Given the description of an element on the screen output the (x, y) to click on. 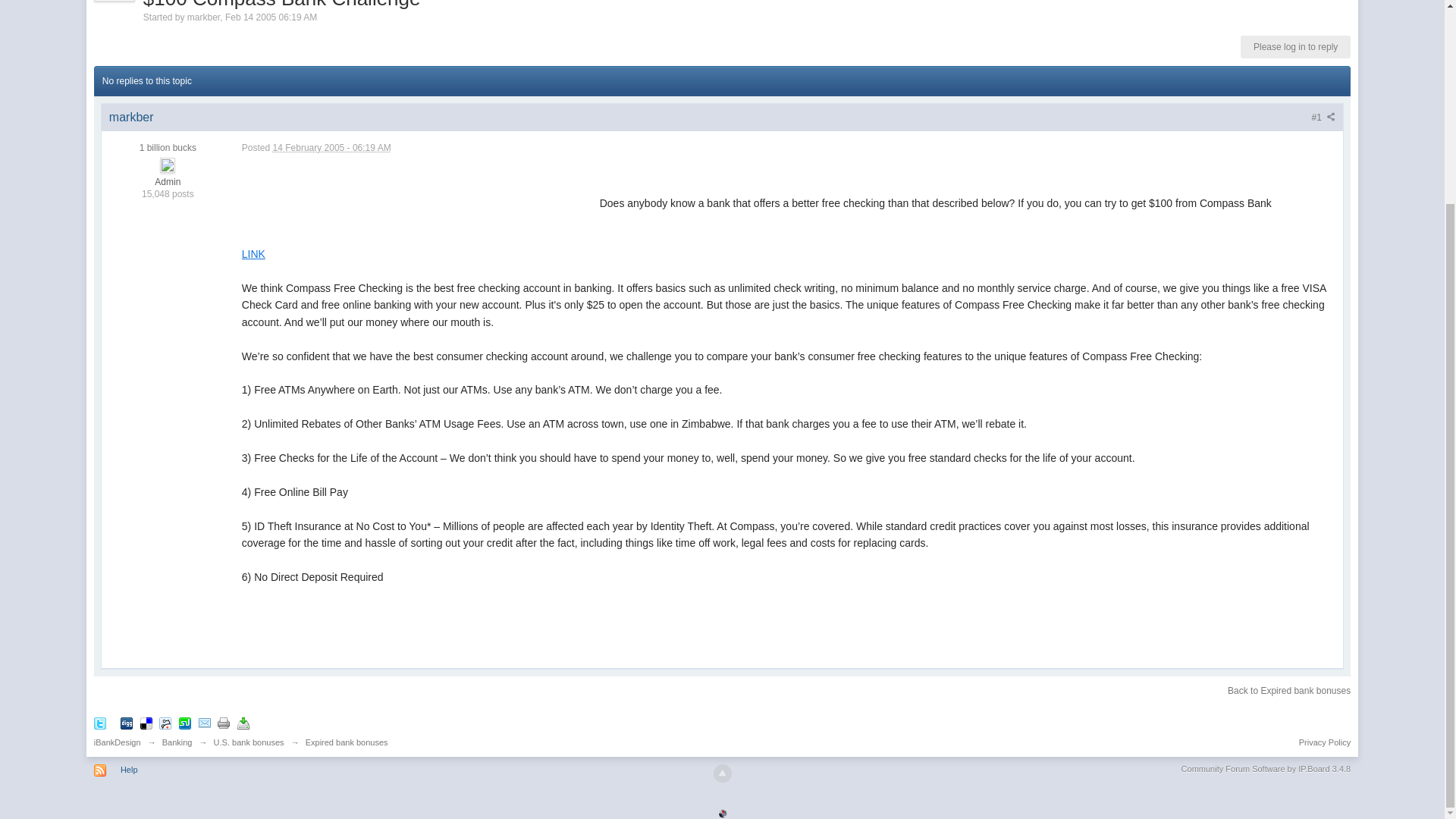
markber (131, 116)
Back to Expired bank bonuses (1289, 690)
markber (203, 17)
LINK (252, 254)
